Given the description of an element on the screen output the (x, y) to click on. 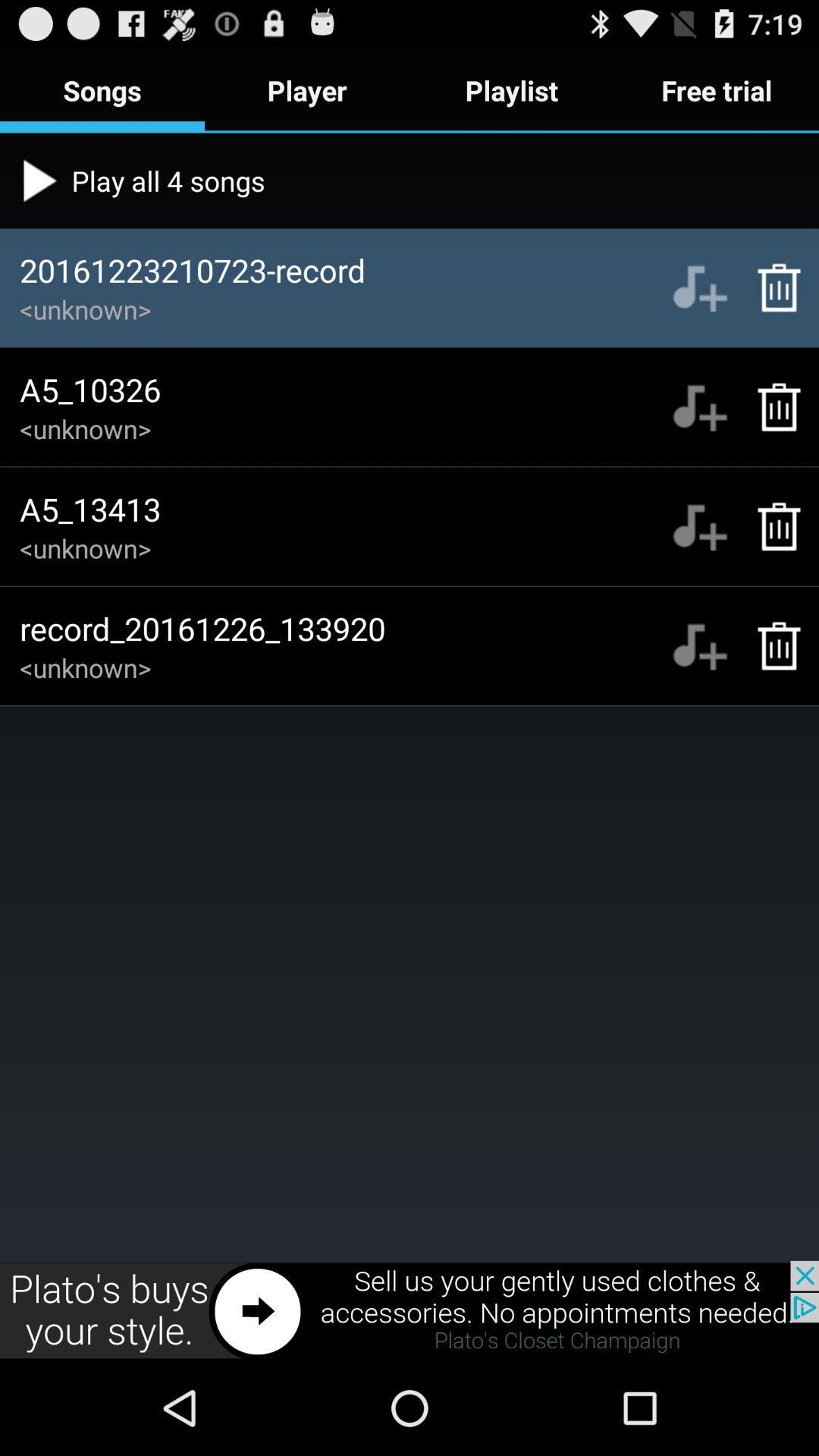
add to favorites (699, 645)
